Given the description of an element on the screen output the (x, y) to click on. 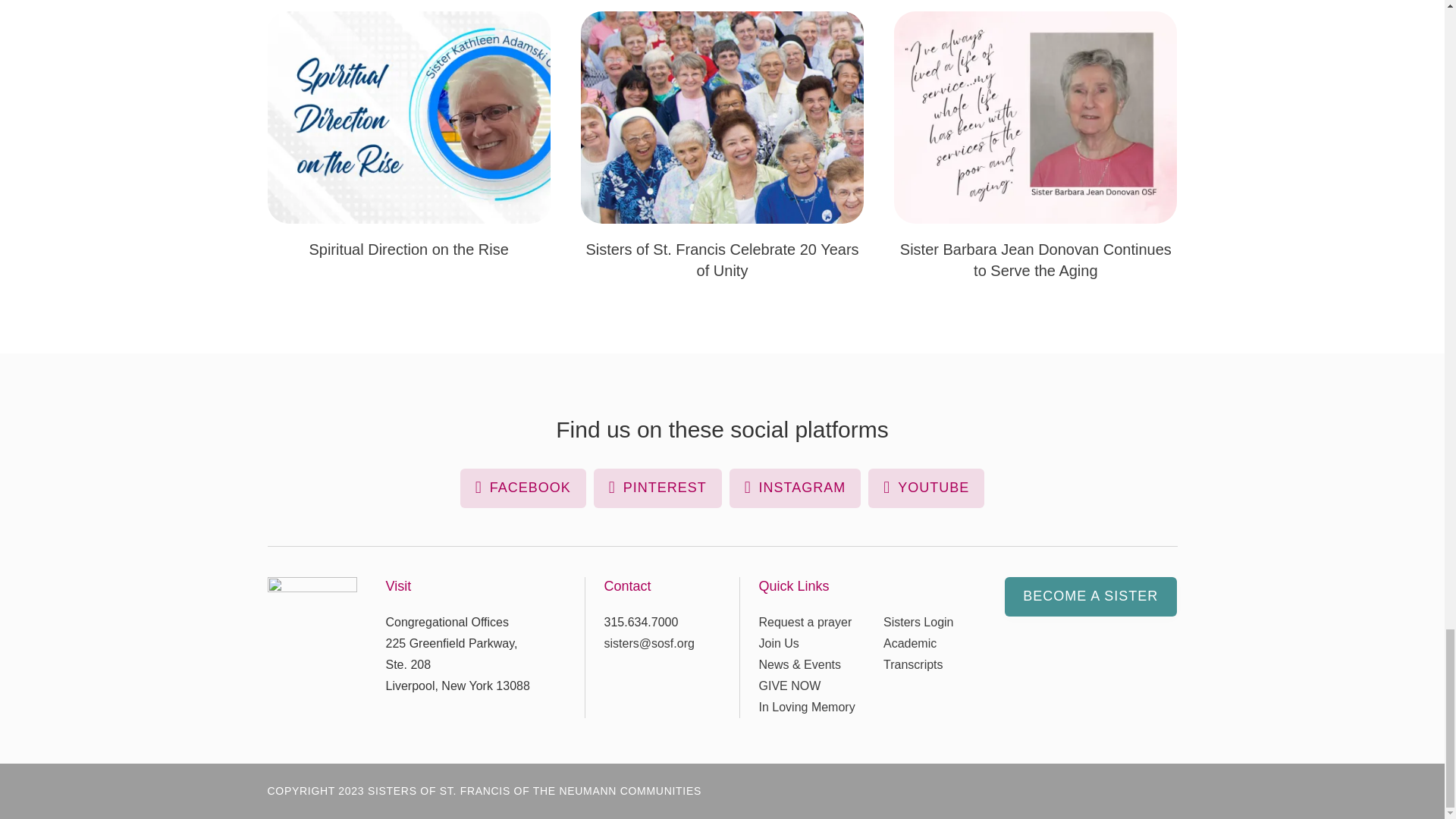
GIVE NOW (789, 685)
Sister Barbara Jean Donovan Continues to Serve the Aging (1035, 259)
Spiritual Direction on the Rise (408, 248)
Sisters of St. Francis Celebrate 20 Years of Unity (722, 259)
In Loving Memory (806, 707)
BECOME A SISTER (1090, 596)
Sisters Login (918, 621)
Academic Transcripts (913, 653)
INSTAGRAM (795, 488)
Join Us (777, 643)
PINTEREST (658, 488)
YOUTUBE (925, 488)
Request a prayer (804, 621)
FACEBOOK (523, 488)
